Given the description of an element on the screen output the (x, y) to click on. 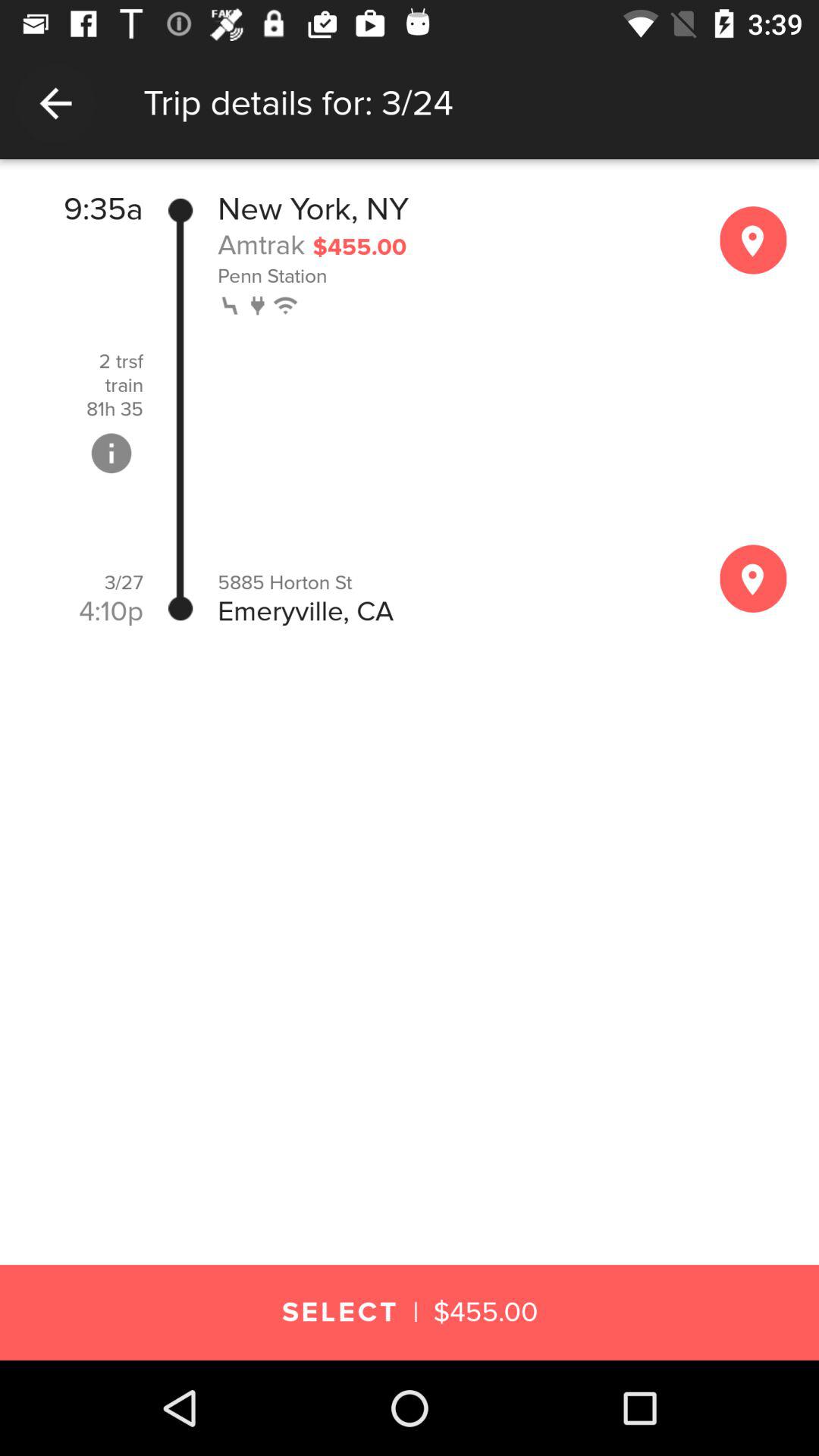
asking location (753, 578)
